Given the description of an element on the screen output the (x, y) to click on. 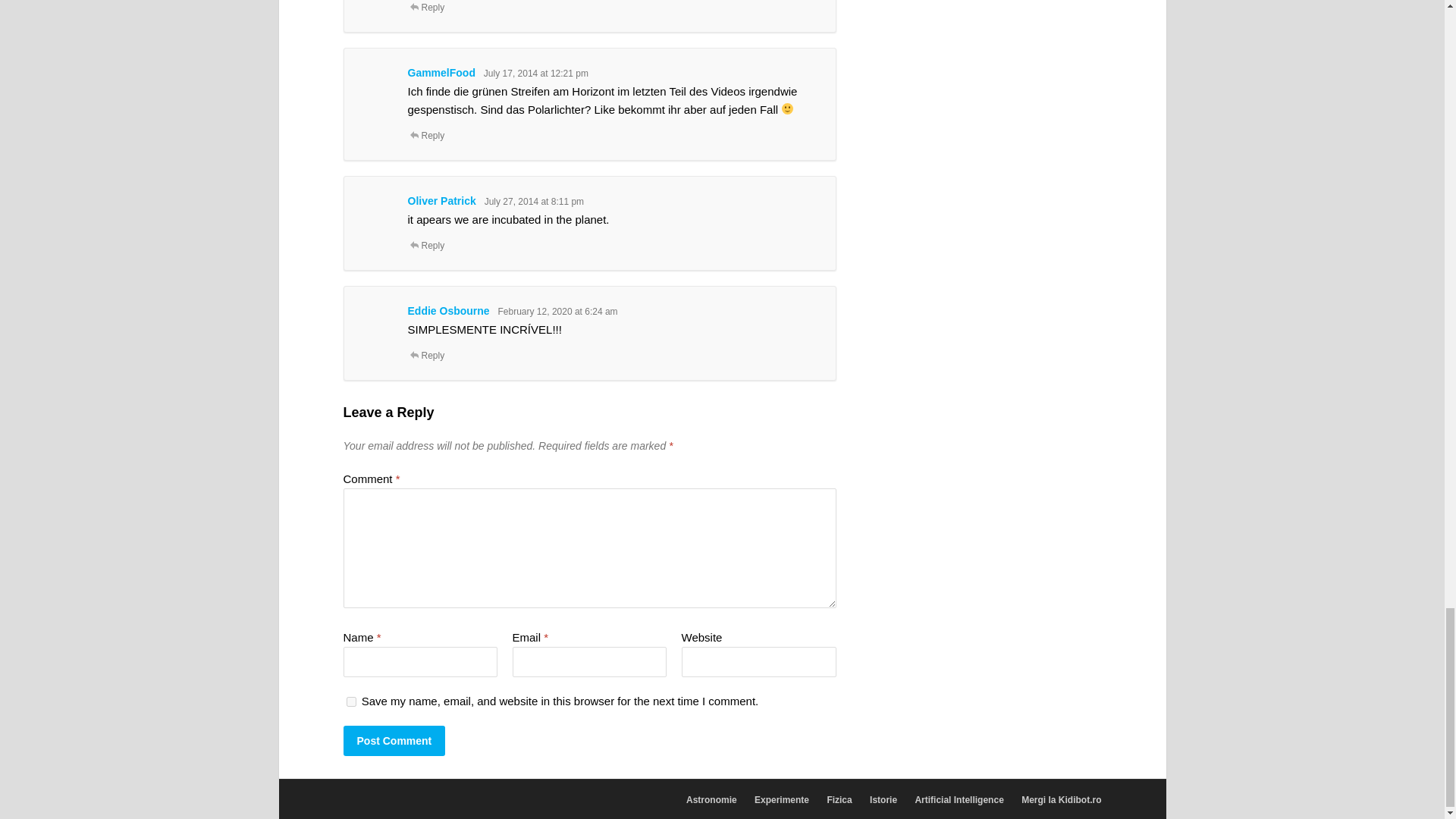
yes (350, 701)
Post Comment (393, 740)
